Given the description of an element on the screen output the (x, y) to click on. 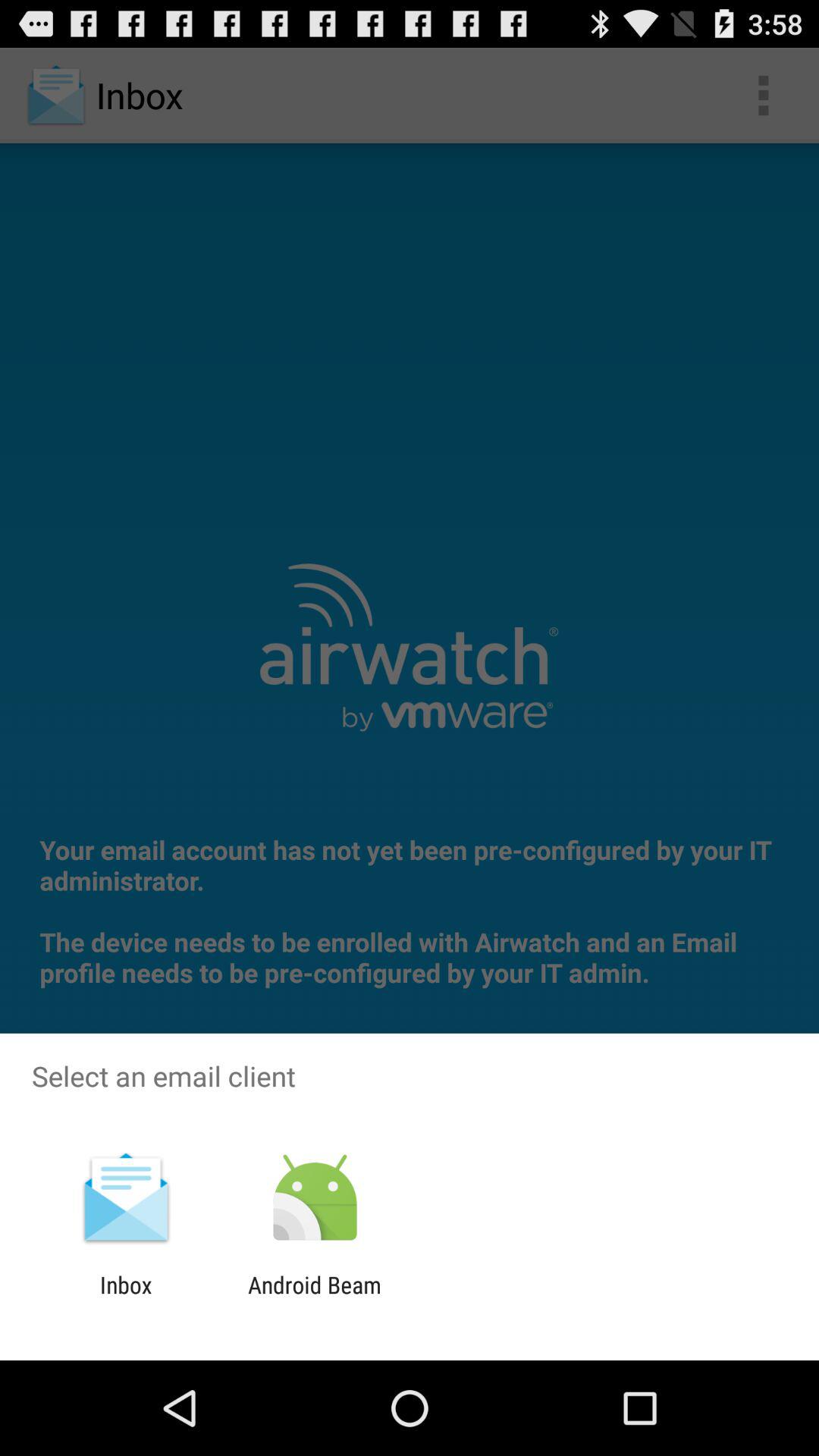
turn off icon to the left of the android beam item (125, 1298)
